Given the description of an element on the screen output the (x, y) to click on. 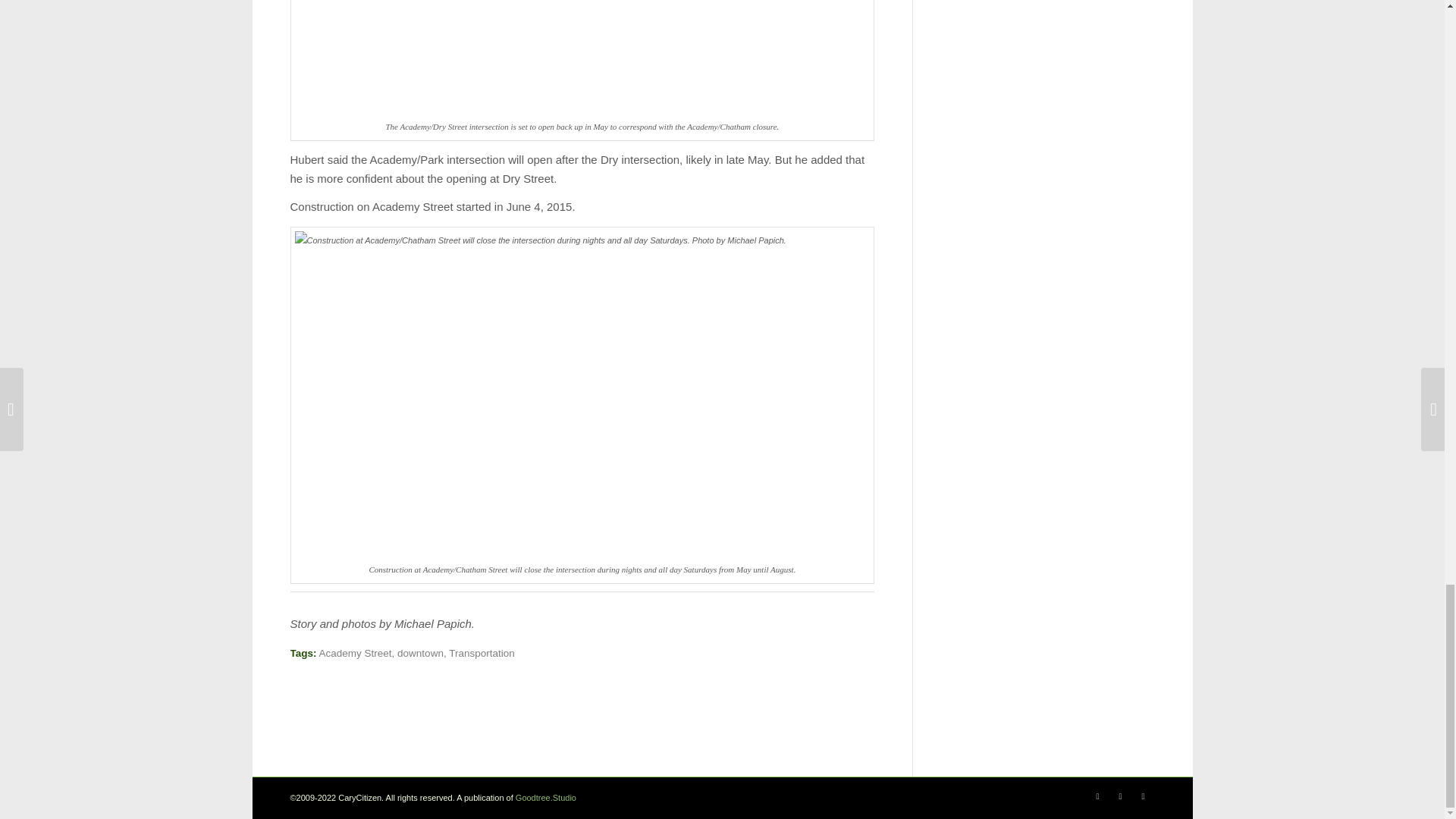
Academy Street (354, 653)
downtown (420, 653)
Transportation (481, 653)
